Given the description of an element on the screen output the (x, y) to click on. 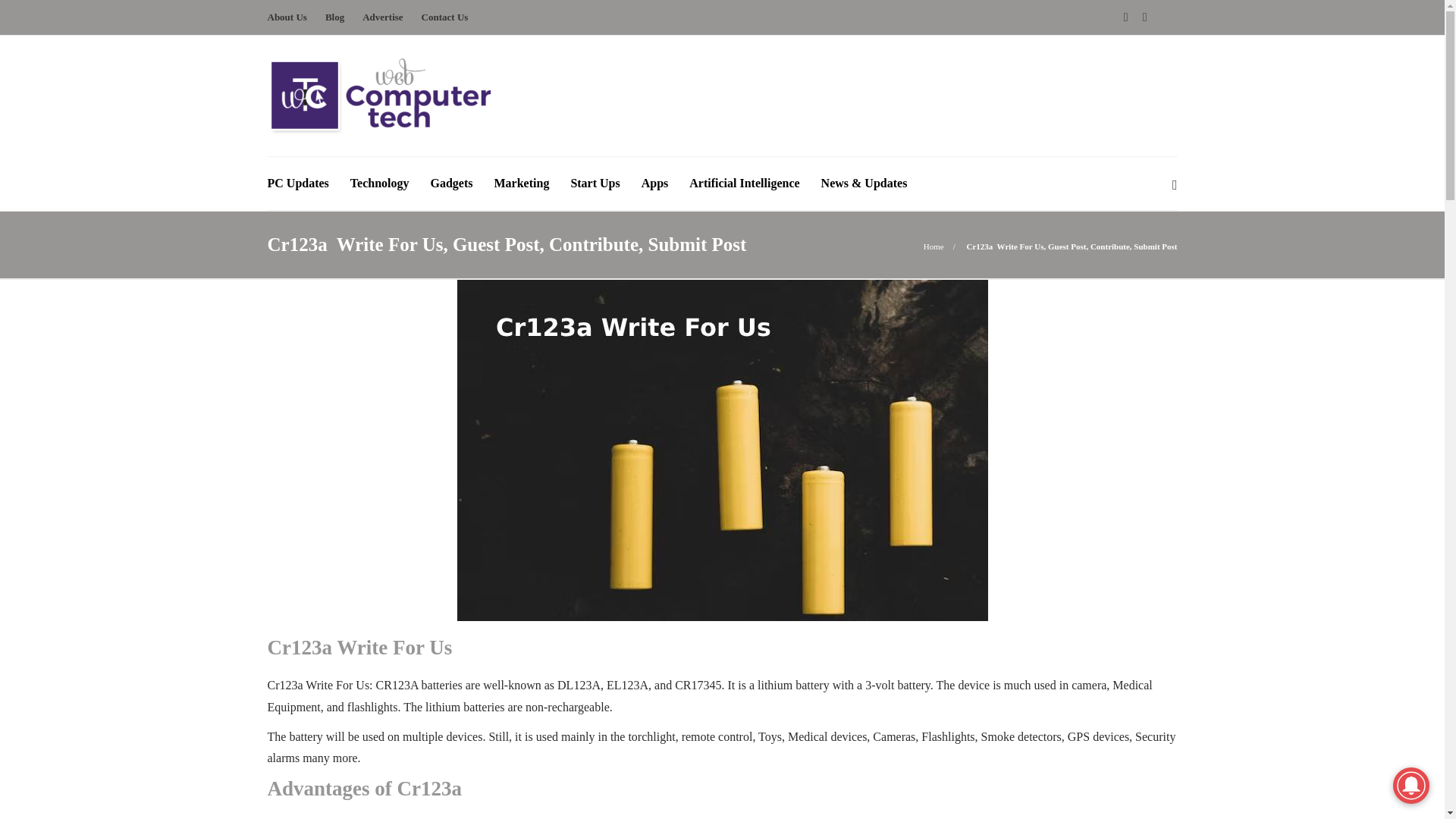
Advertise (382, 17)
Home (933, 245)
Contact Us (445, 17)
About Us (285, 17)
PC Updates (297, 183)
